Given the description of an element on the screen output the (x, y) to click on. 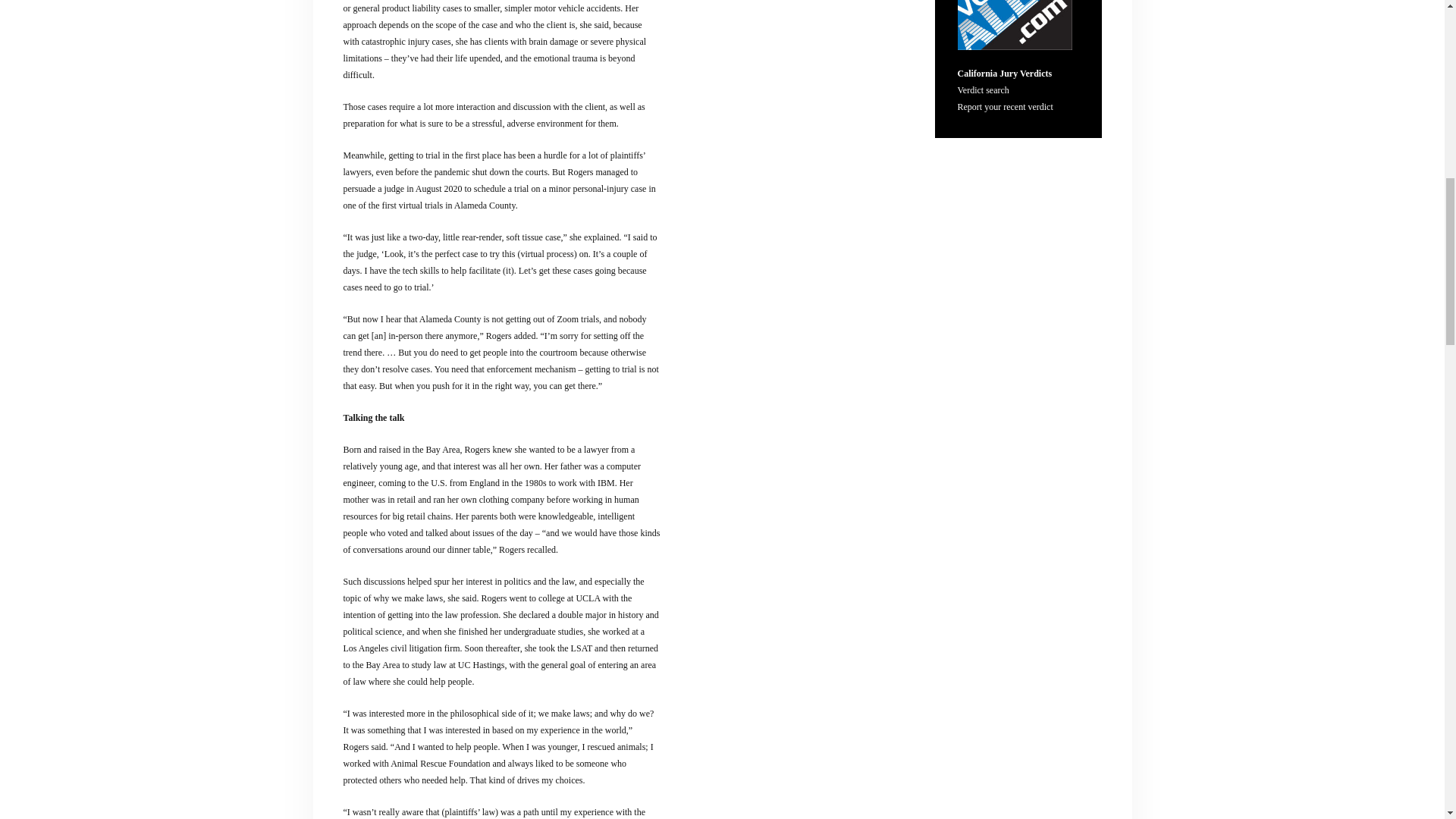
California Jury Verdicts (1003, 72)
